Given the description of an element on the screen output the (x, y) to click on. 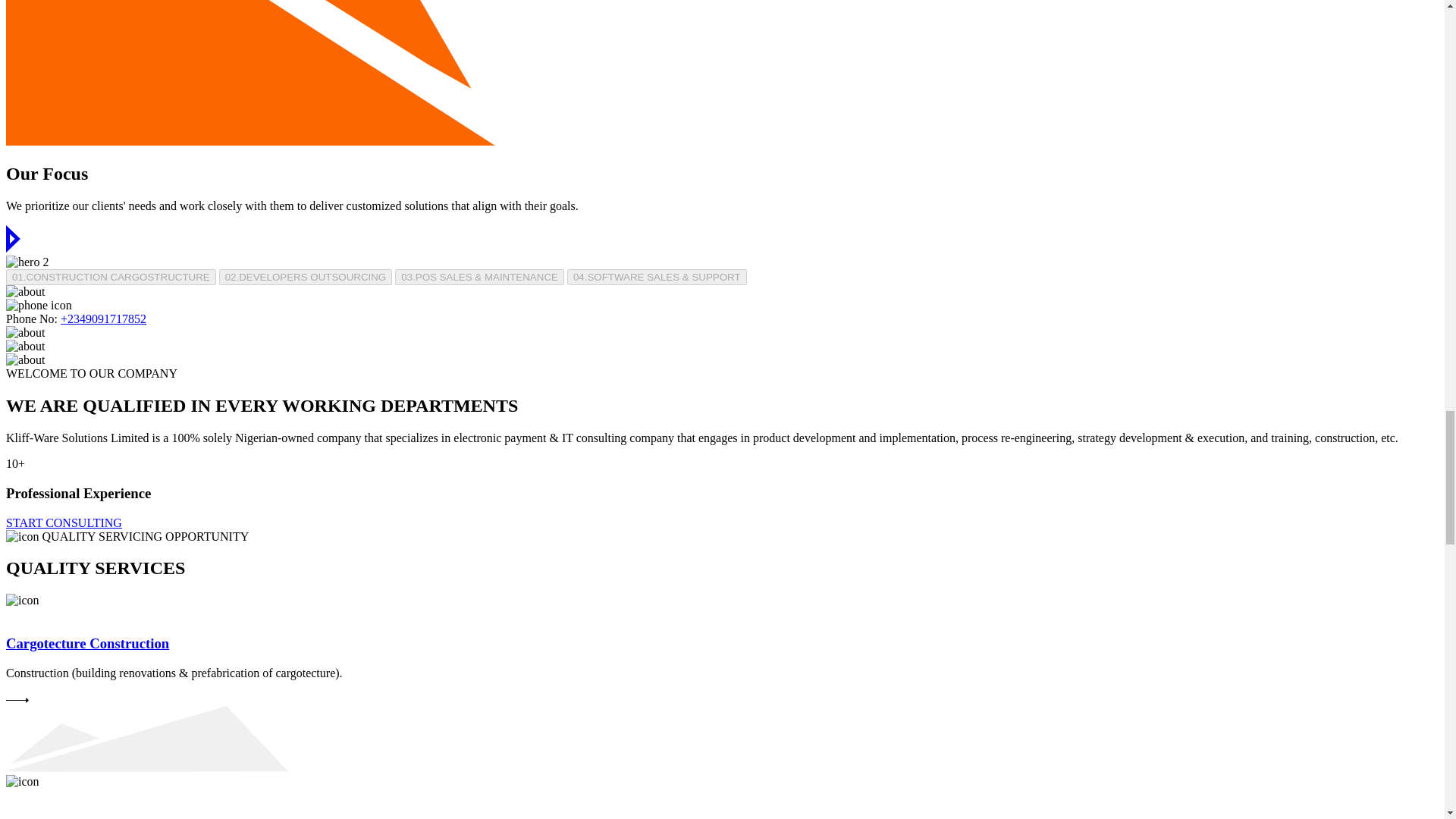
01.CONSTRUCTION CARGOSTRUCTURE (110, 277)
02.DEVELOPERS OUTSOURCING (306, 277)
